Given the description of an element on the screen output the (x, y) to click on. 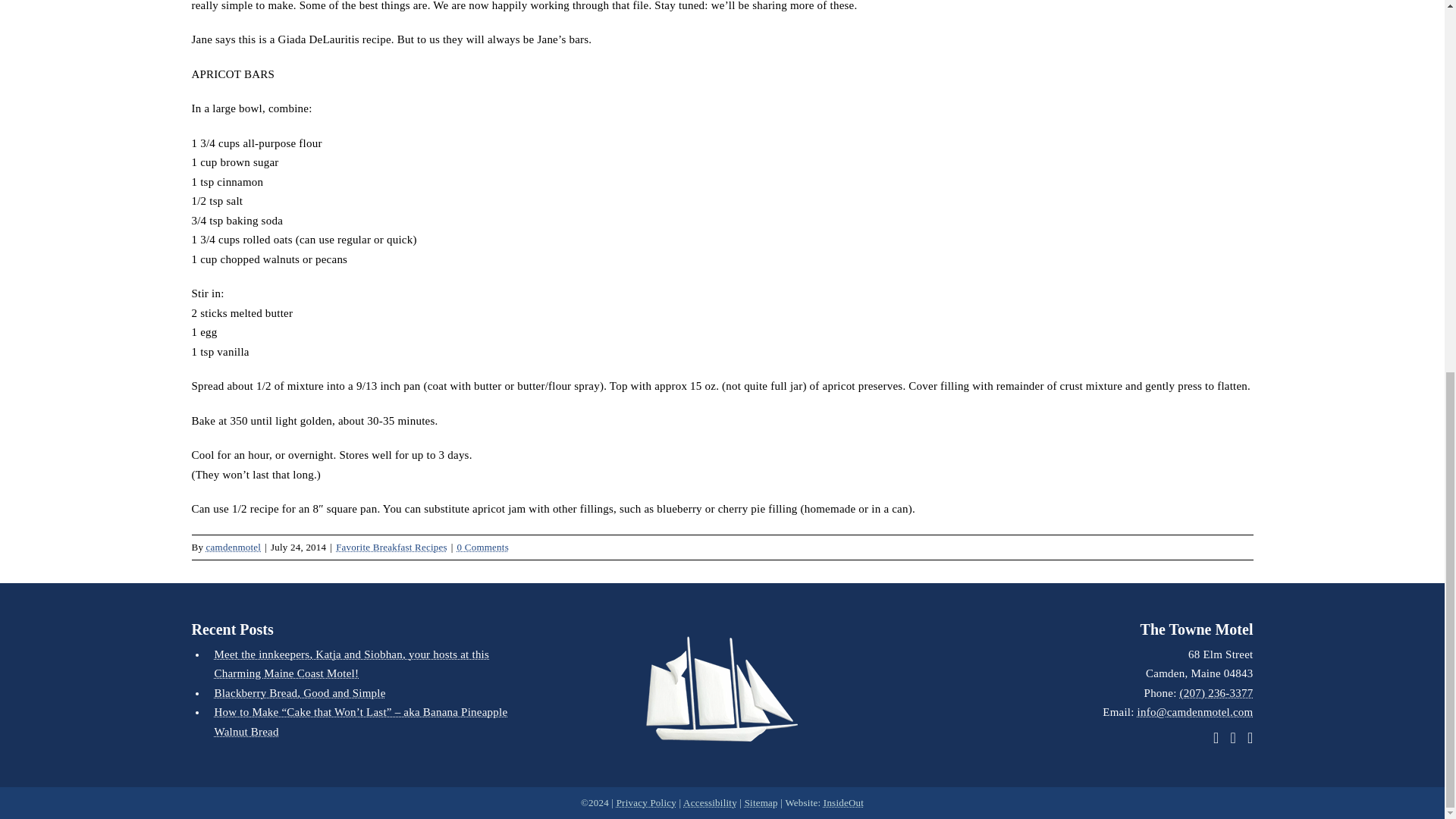
camdenmotel (234, 546)
Favorite Breakfast Recipes (391, 546)
0 Comments (482, 546)
